Given the description of an element on the screen output the (x, y) to click on. 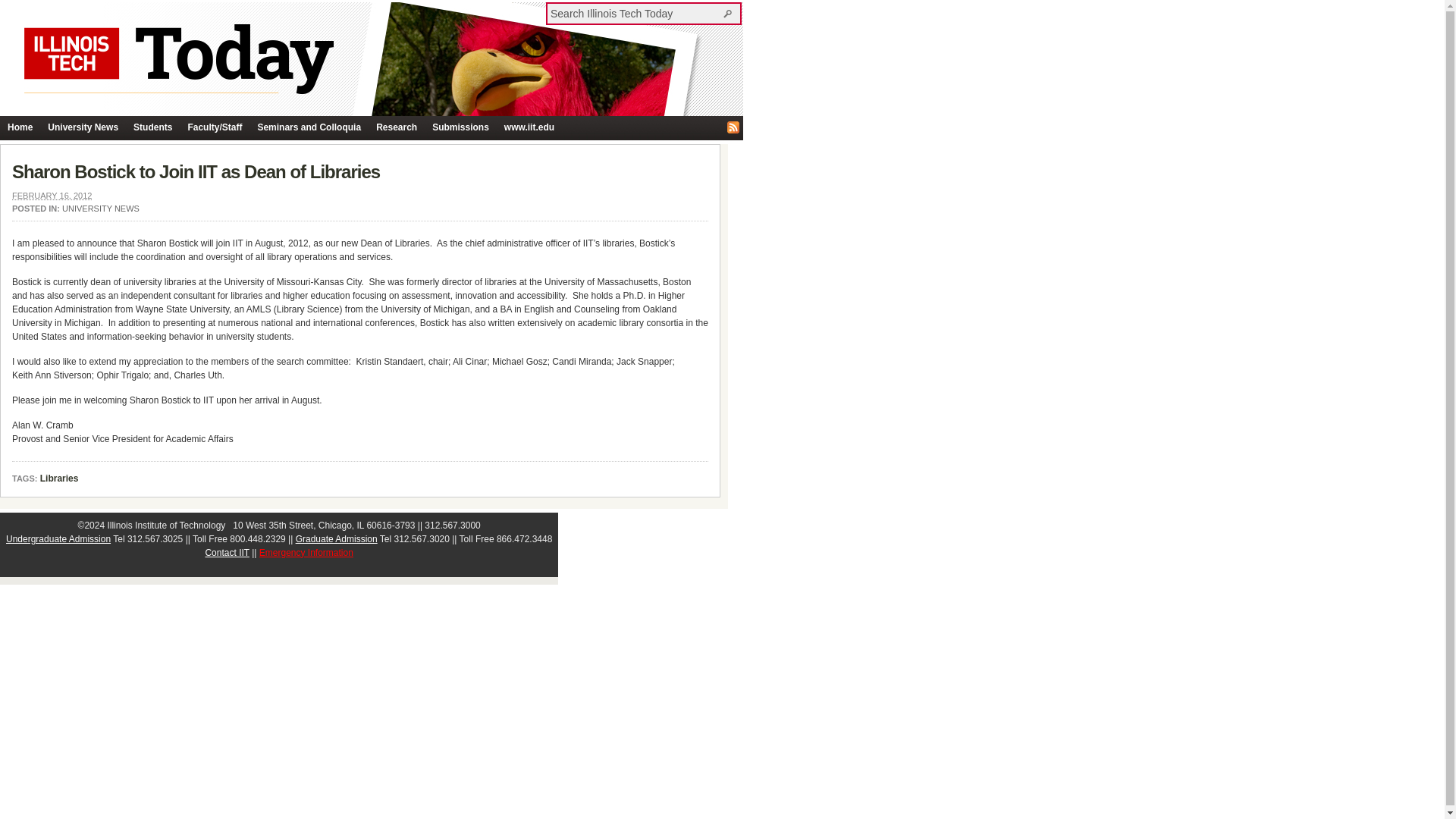
Illinois Tech Today RSS Feed (732, 127)
Contact IIT (226, 552)
Search (729, 13)
Submissions (460, 127)
RSS Feed (732, 127)
Emergency Information (306, 552)
Undergraduate Admission (57, 538)
Graduate Admission (336, 538)
Search Illinois Tech Today (729, 13)
Research (396, 127)
